Given the description of an element on the screen output the (x, y) to click on. 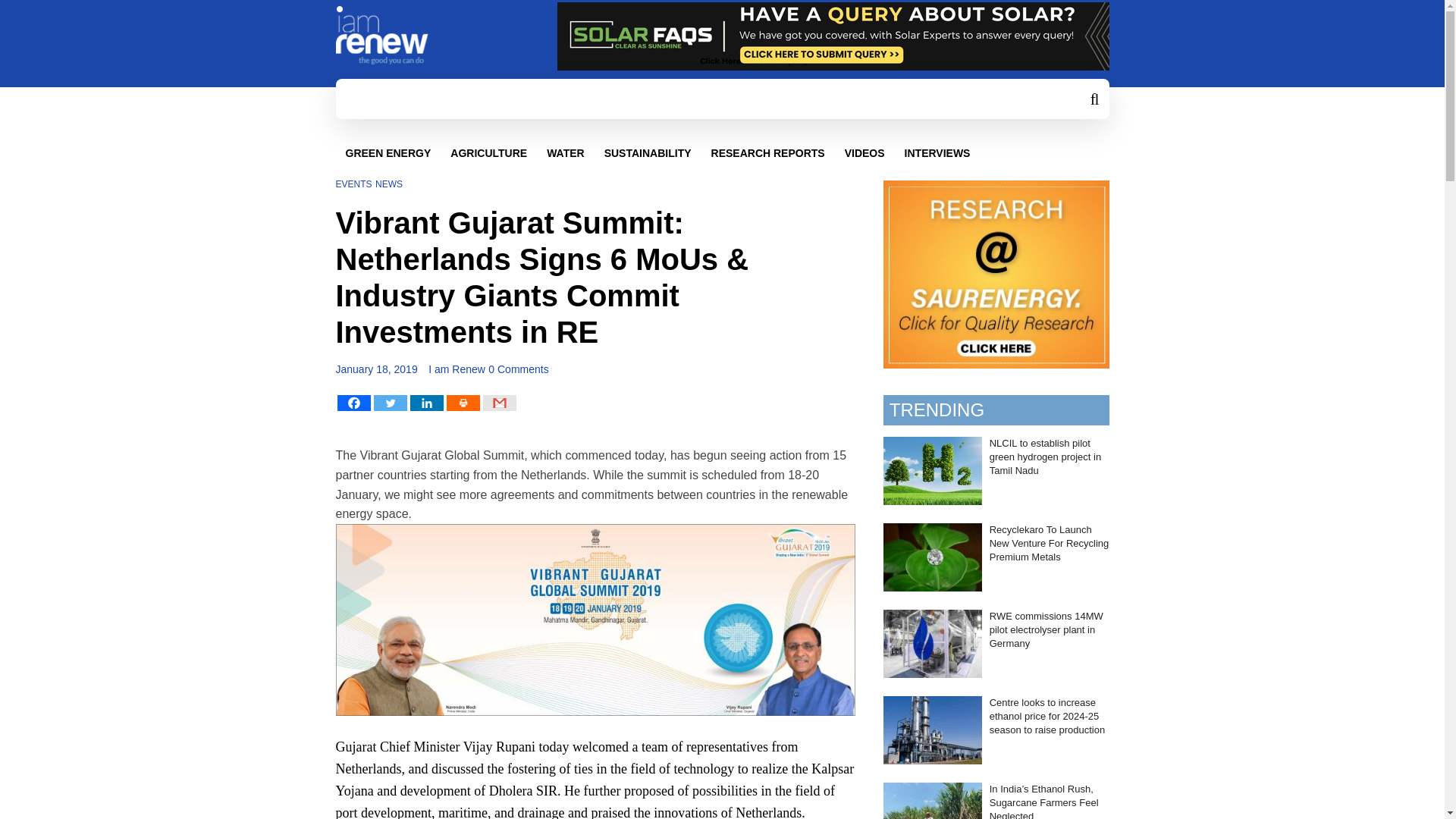
January 18, 2019 (375, 369)
AGRICULTURE (488, 152)
VIDEOS (864, 152)
Facebook (352, 402)
I am Renew (456, 369)
I am Renew (456, 369)
RESEARCH REPORTS (768, 152)
0 Comments (517, 369)
SUSTAINABILITY (647, 152)
Google Gmail (498, 402)
